Given the description of an element on the screen output the (x, y) to click on. 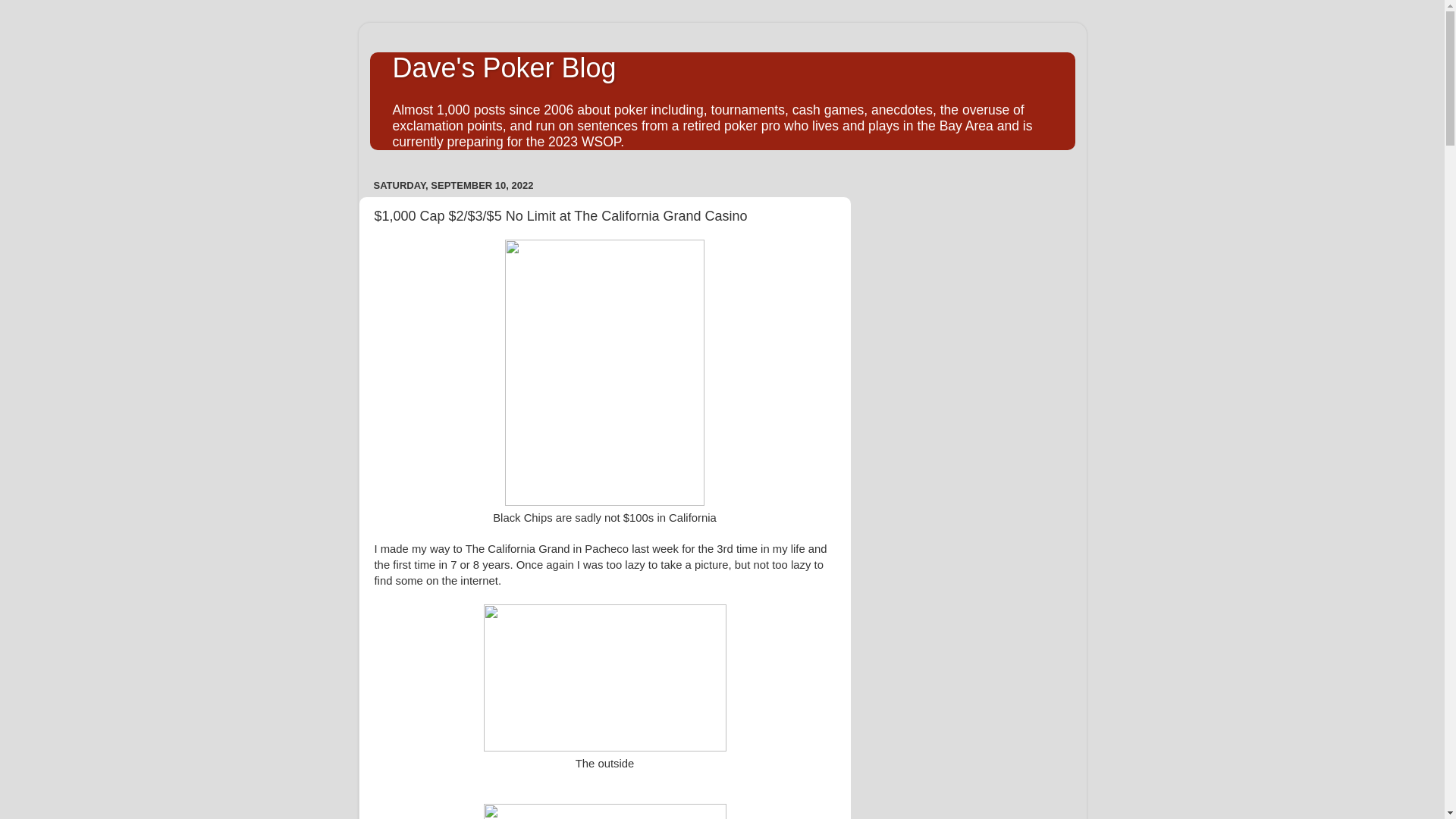
Dave's Poker Blog (504, 67)
